Given the description of an element on the screen output the (x, y) to click on. 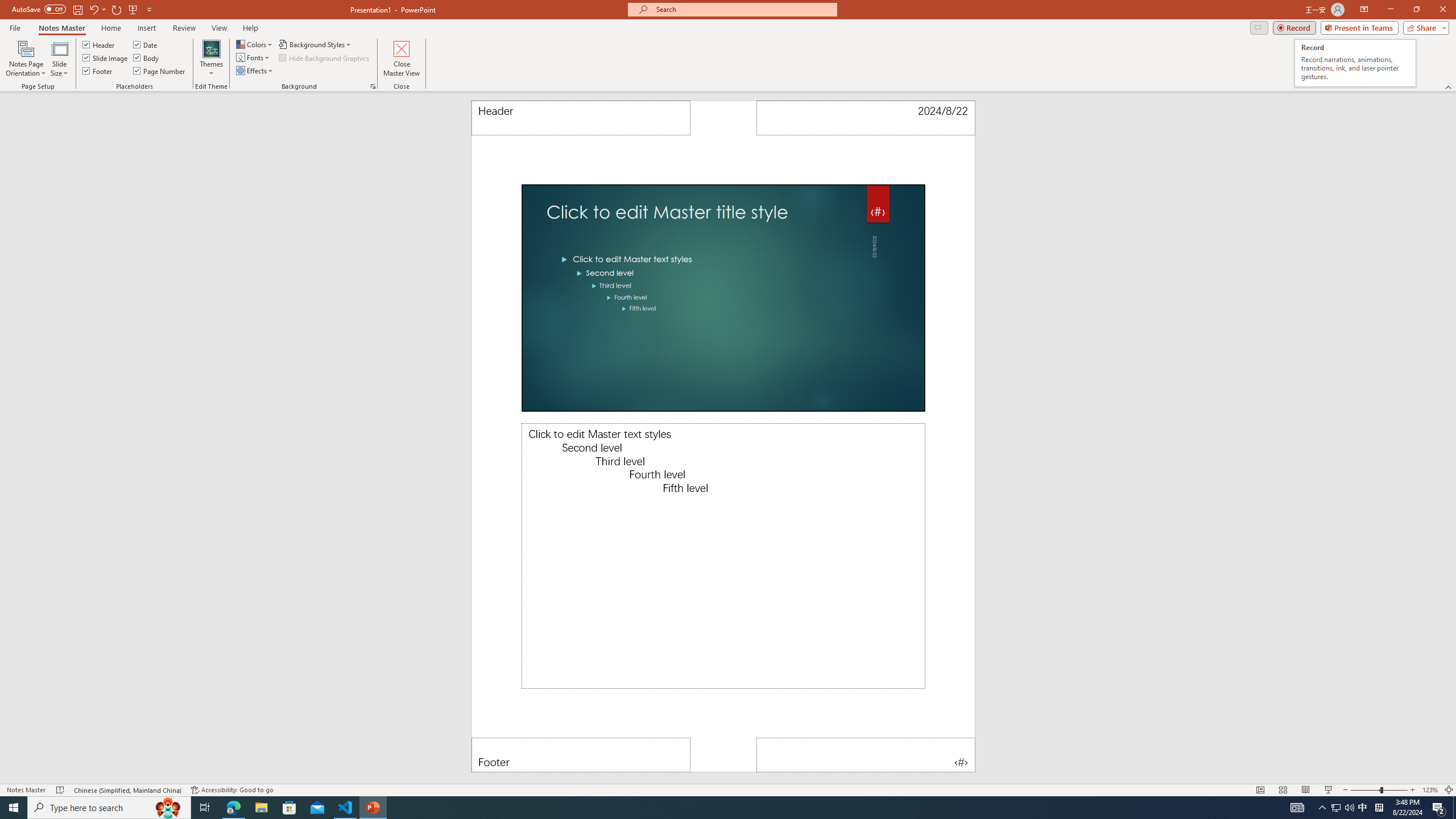
Effects (255, 69)
Page Number (160, 69)
